Given the description of an element on the screen output the (x, y) to click on. 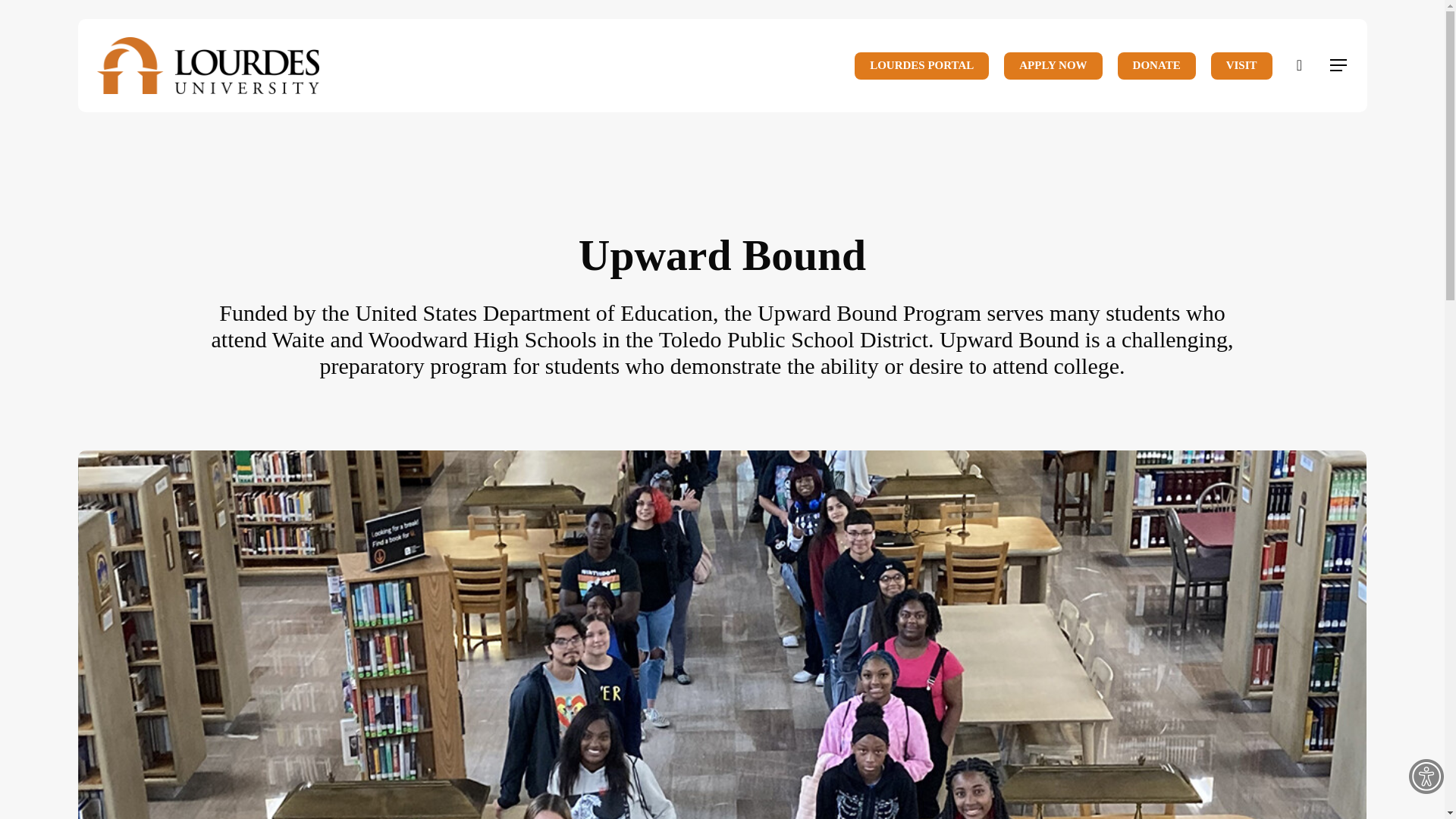
Menu (1339, 65)
LOURDES PORTAL (921, 65)
APPLY NOW (1053, 65)
search (1299, 65)
DONATE (1156, 65)
Accessibility Helper sidebar (1425, 776)
VISIT (1241, 65)
